Given the description of an element on the screen output the (x, y) to click on. 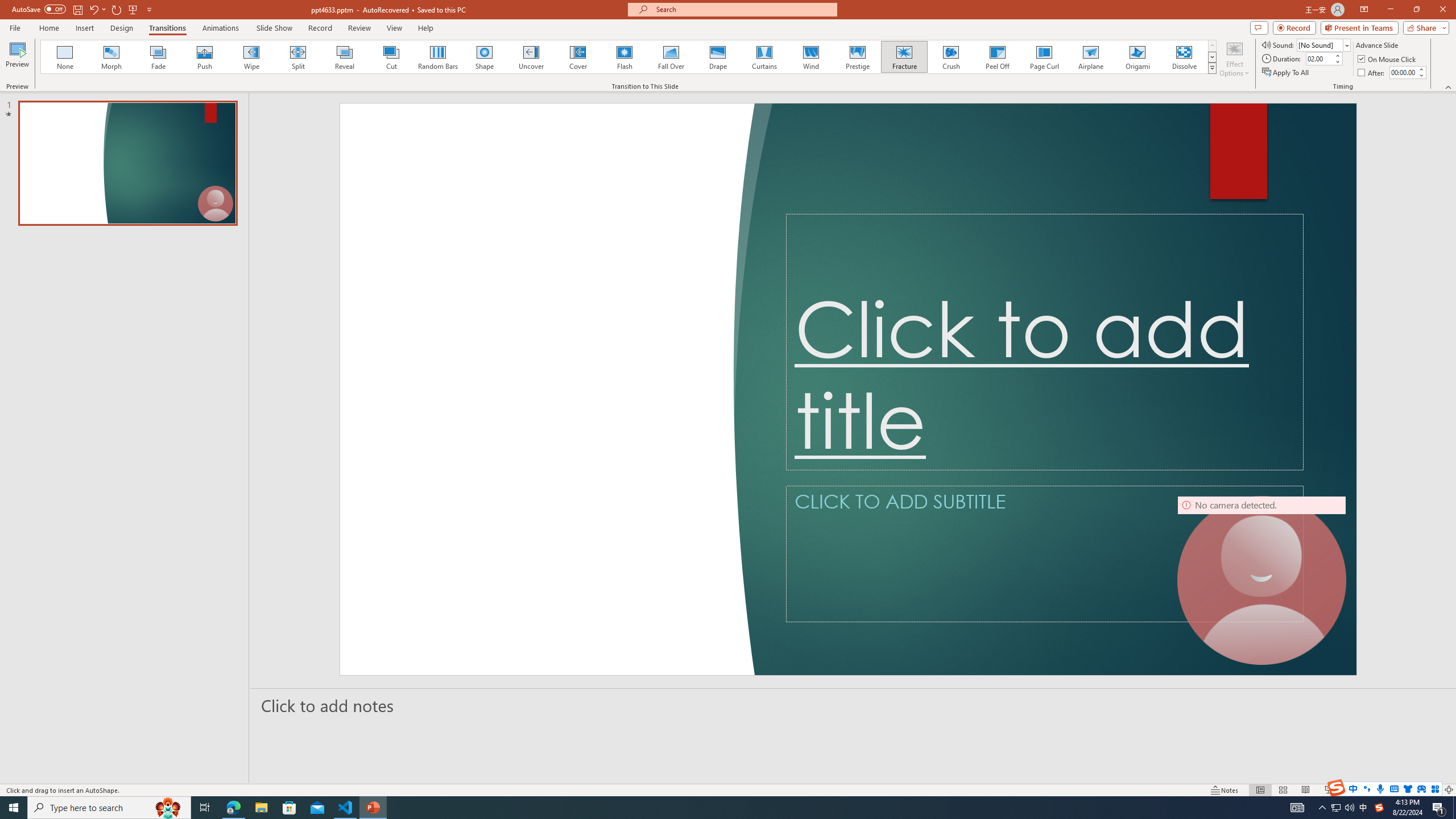
Wind (810, 56)
Cover (577, 56)
Flash (624, 56)
Crush (950, 56)
Zoom 140% (1430, 790)
Airplane (1090, 56)
Reveal (344, 56)
Morph (111, 56)
